Given the description of an element on the screen output the (x, y) to click on. 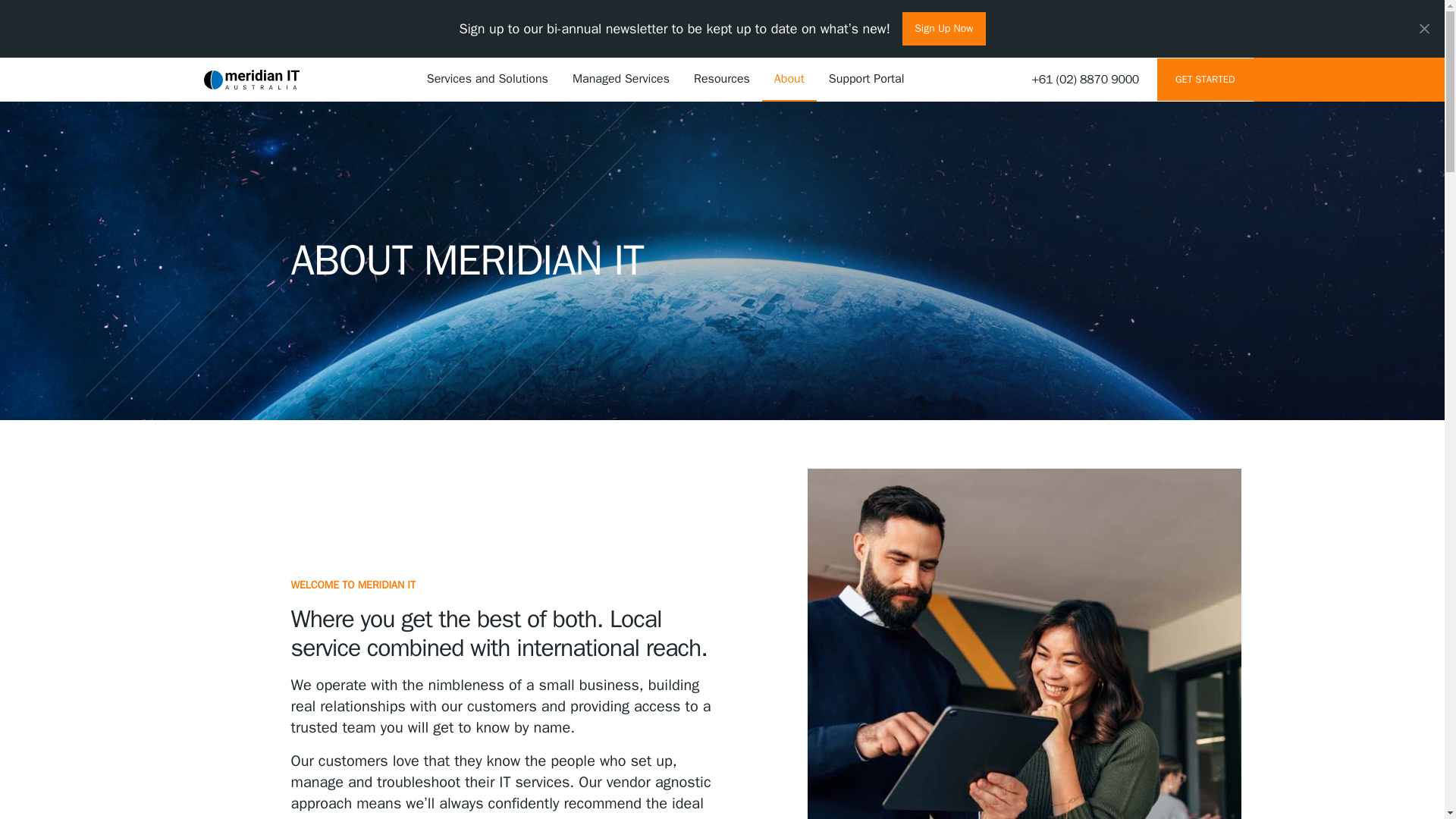
Managed Services (620, 79)
GET STARTED (1204, 79)
Sign Up Now (943, 28)
Support Portal (866, 79)
Services and Solutions (487, 79)
About (788, 79)
Resources (721, 79)
